Given the description of an element on the screen output the (x, y) to click on. 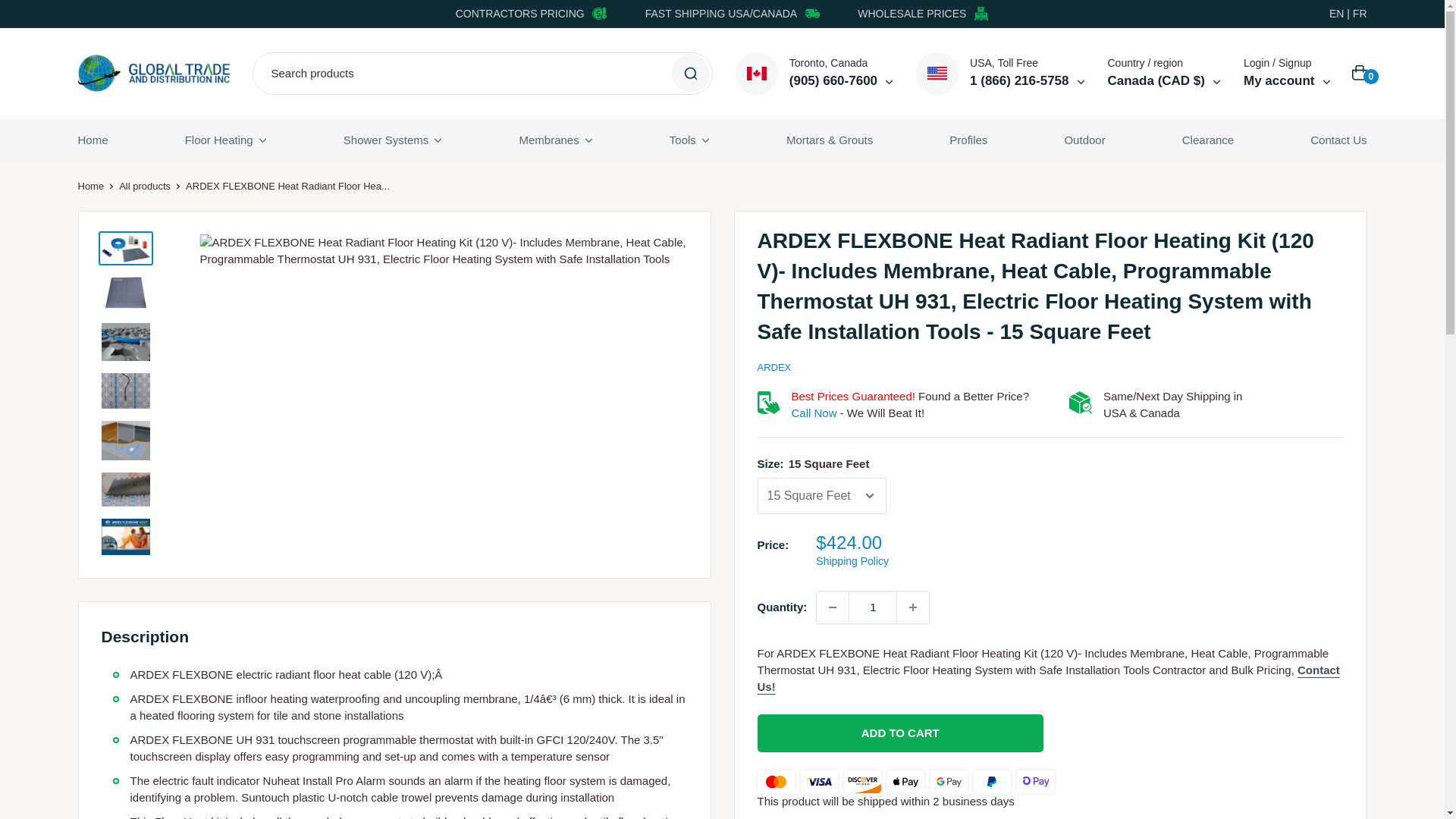
Decrease quantity by 1 (832, 607)
EN (1336, 13)
1 (872, 607)
FR (1359, 13)
Increase quantity by 1 (912, 607)
Contact (1048, 677)
